Given the description of an element on the screen output the (x, y) to click on. 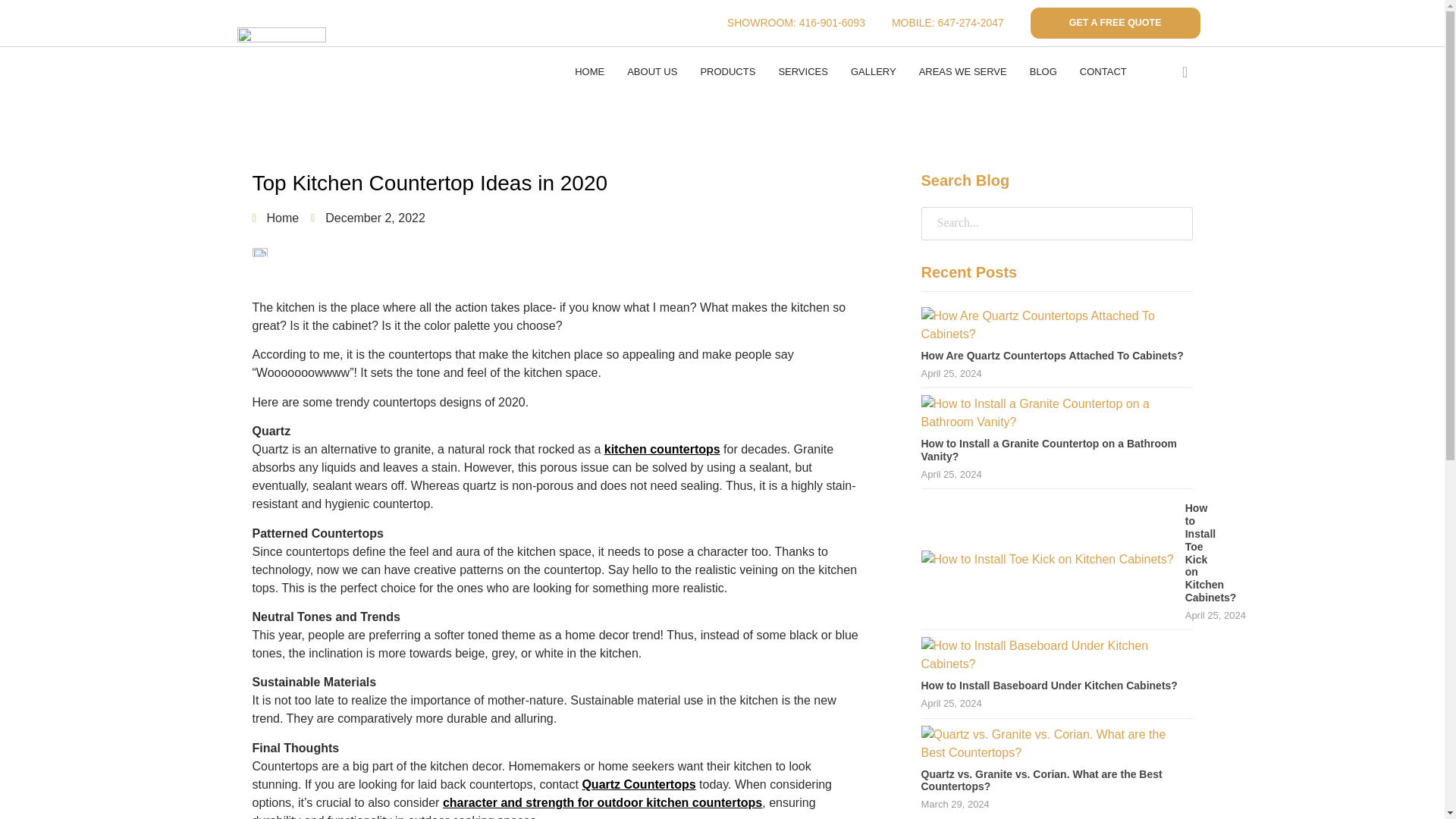
How to Install Toe Kick on Kitchen Cabinets? (1046, 558)
SHOWROOM: 416-901-6093 (795, 23)
How to Install Baseboard Under Kitchen Cabinets? (1048, 685)
How Are Quartz Countertops Attached To Cabinets? (1056, 333)
How to Install Baseboard Under Kitchen Cabinets? (1056, 663)
PRODUCTS (727, 71)
HOME (589, 71)
MOBILE: 647-274-2047 (947, 23)
